Given the description of an element on the screen output the (x, y) to click on. 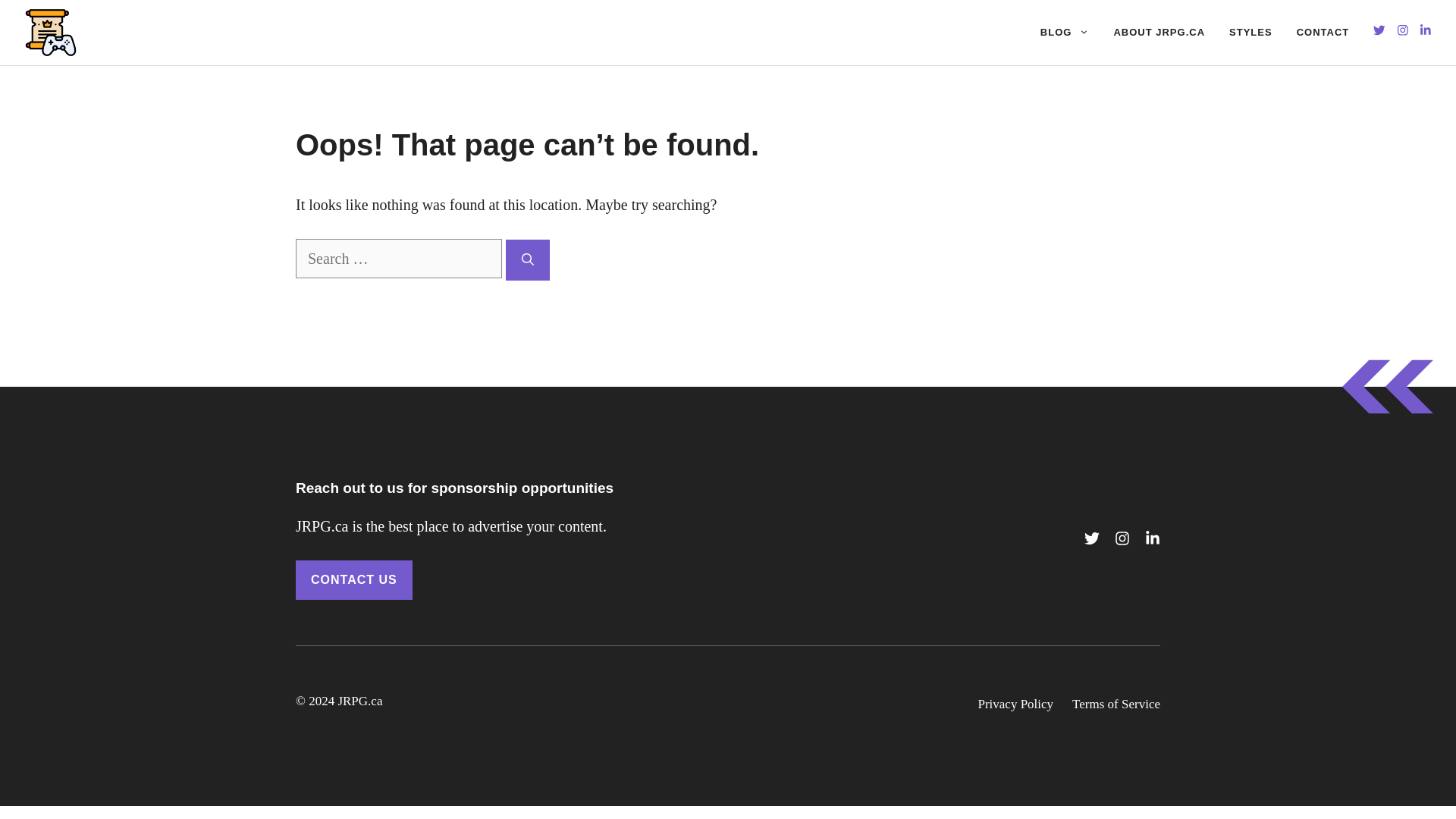
STYLES (1250, 32)
Terms of Service (1115, 704)
Search for: (398, 258)
CONTACT (1322, 32)
BLOG (1064, 32)
Privacy Policy (1014, 704)
CONTACT US (353, 578)
ABOUT JRPG.CA (1158, 32)
